Given the description of an element on the screen output the (x, y) to click on. 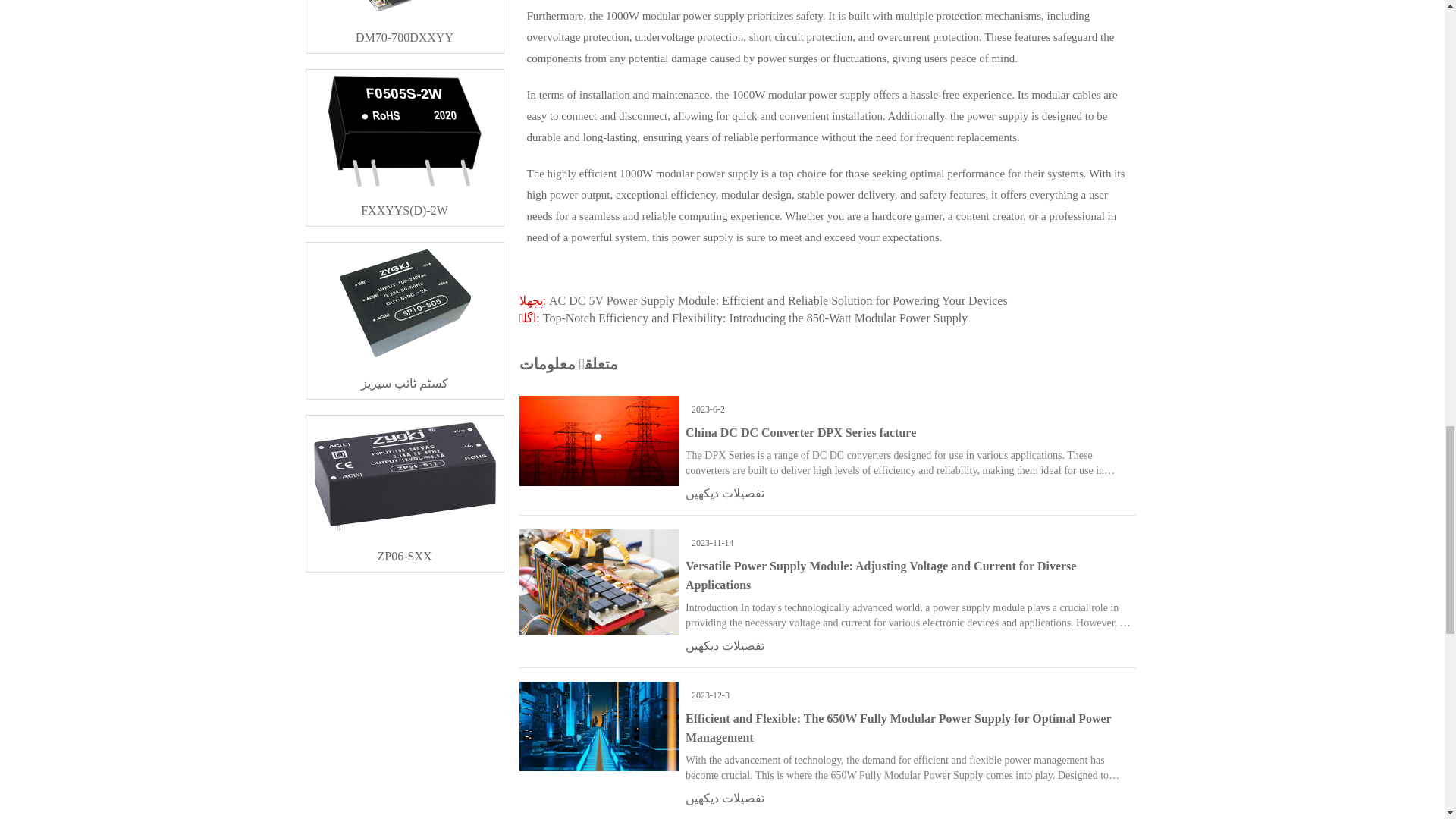
DM70-700DXXYY (404, 31)
ZP06-SXX (404, 549)
ZP06-SXX (404, 549)
highly efficient 1000W modular power supply (652, 173)
DM70-700DXXYY (404, 31)
China DC DC Converter DPX Series facture (800, 431)
